Given the description of an element on the screen output the (x, y) to click on. 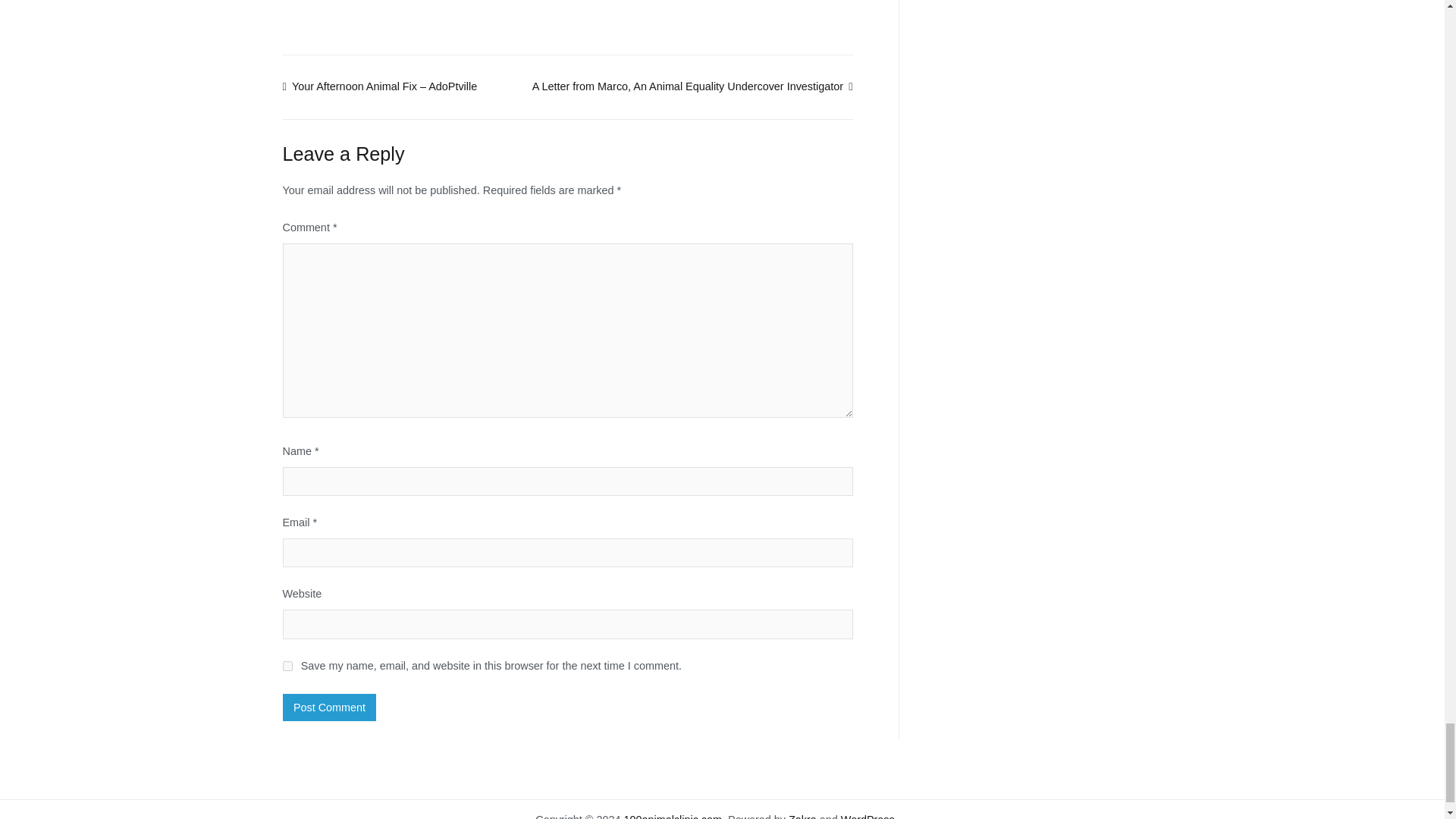
190animalclinic.com (672, 816)
Zakra (802, 816)
Post Comment (328, 707)
WordPress (868, 816)
yes (287, 665)
Post Comment (328, 707)
